Given the description of an element on the screen output the (x, y) to click on. 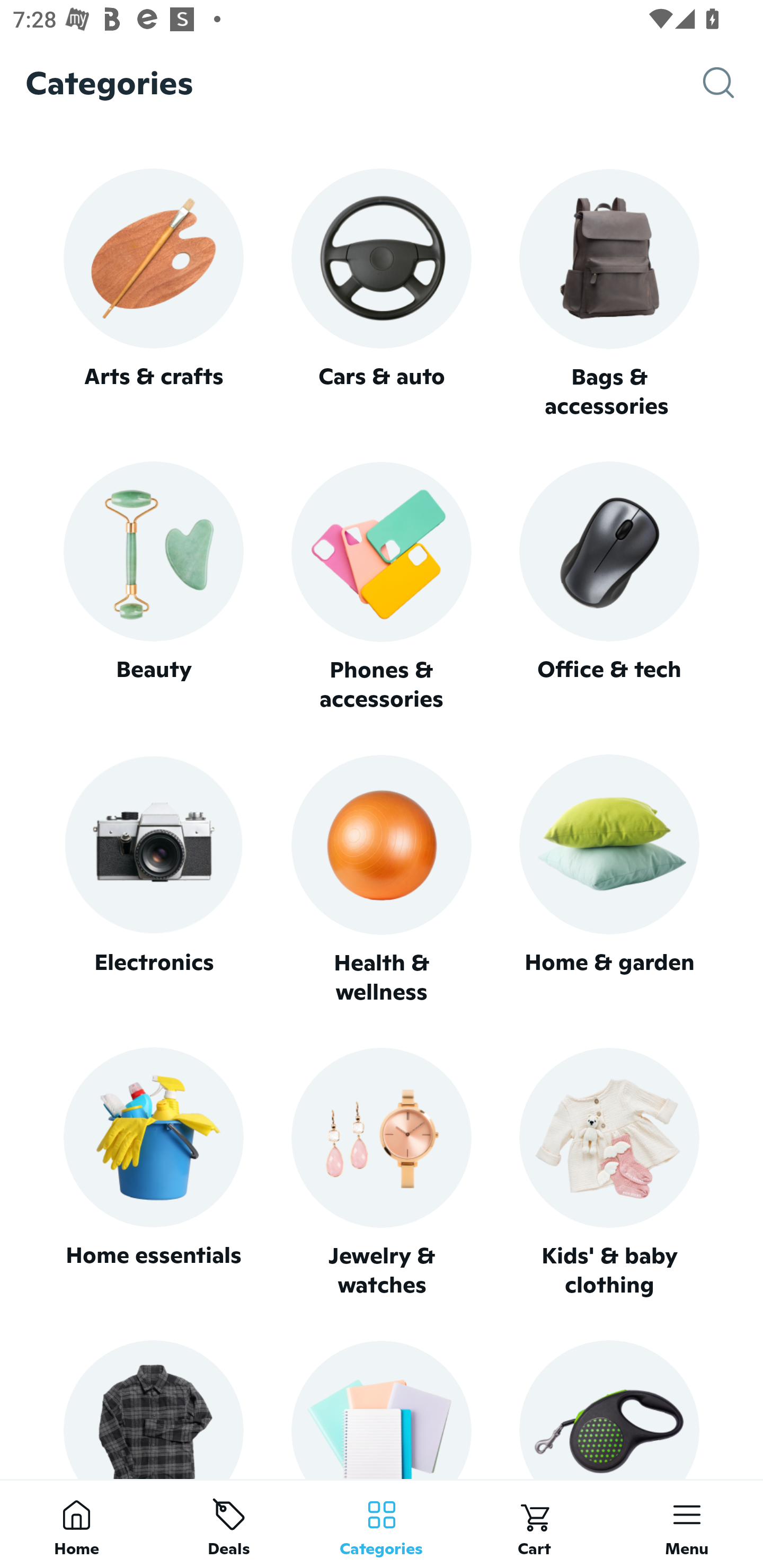
Search (732, 82)
Arts & crafts (153, 293)
Cars & auto (381, 293)
Bags & accessories  (609, 294)
Beauty (153, 586)
Office & tech (609, 586)
Phones & accessories (381, 587)
Electronics (153, 880)
Home & garden (609, 880)
Health & wellness (381, 880)
Home essentials (153, 1172)
Jewelry & watches (381, 1172)
Kids' & baby clothing (609, 1172)
Men's clothing (153, 1409)
Pet supplies (609, 1409)
Office & school supplies (381, 1409)
Home (76, 1523)
Deals (228, 1523)
Categories (381, 1523)
Cart (533, 1523)
Menu (686, 1523)
